Given the description of an element on the screen output the (x, y) to click on. 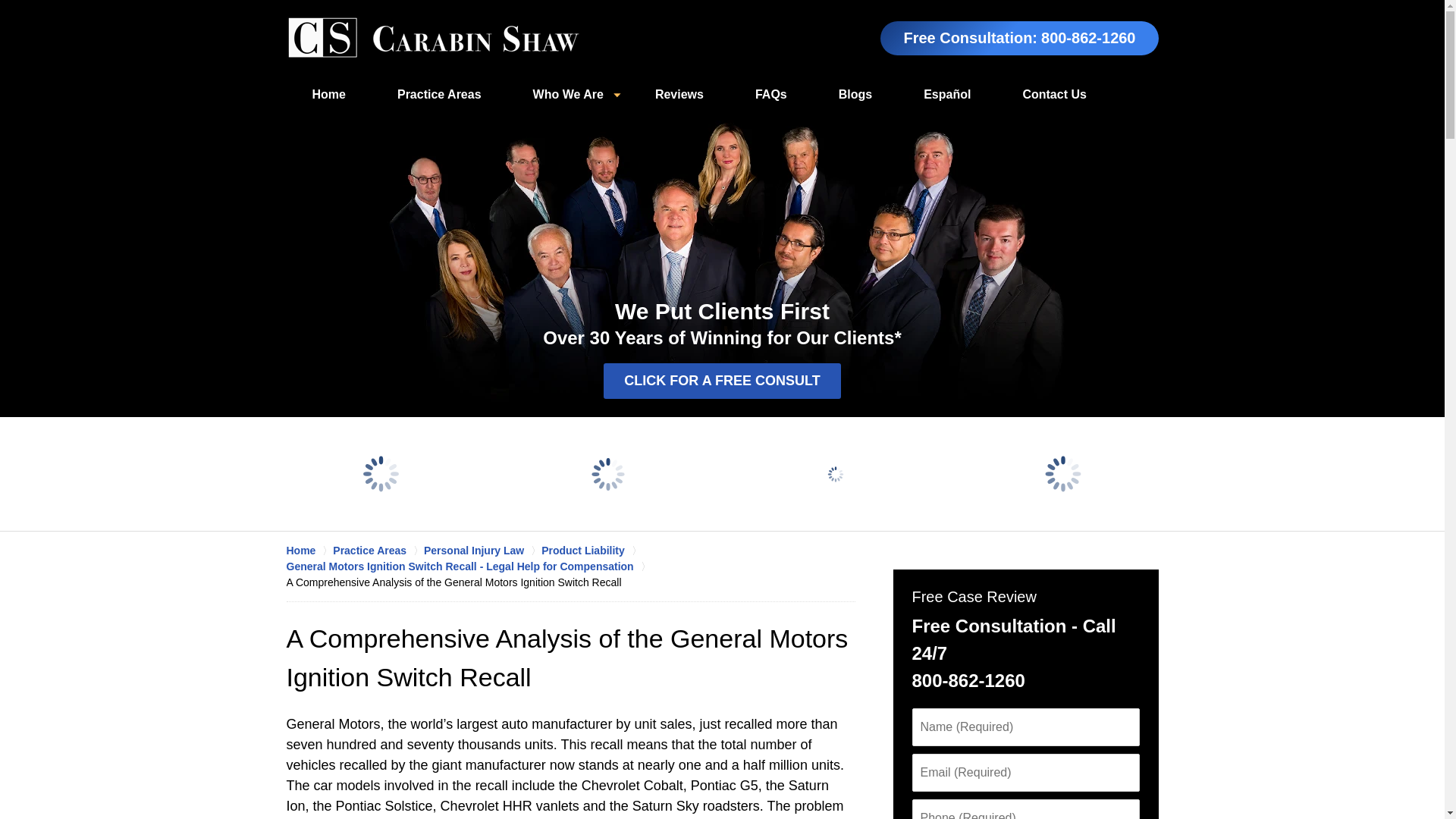
Home (309, 550)
Practice Areas (438, 94)
Who We Are (567, 94)
Free Case Review (973, 596)
San Antonio Product Liability Lawyers Carabin Shaw Home (432, 37)
Free Consultation: 800-862-1260 (1018, 38)
Personal Injury Law (482, 550)
Back to Home (432, 37)
FAQs (770, 94)
Home (328, 94)
CLICK FOR A FREE CONSULT (722, 380)
Blogs (855, 94)
Reviews (678, 94)
Product Liability (591, 550)
